Given the description of an element on the screen output the (x, y) to click on. 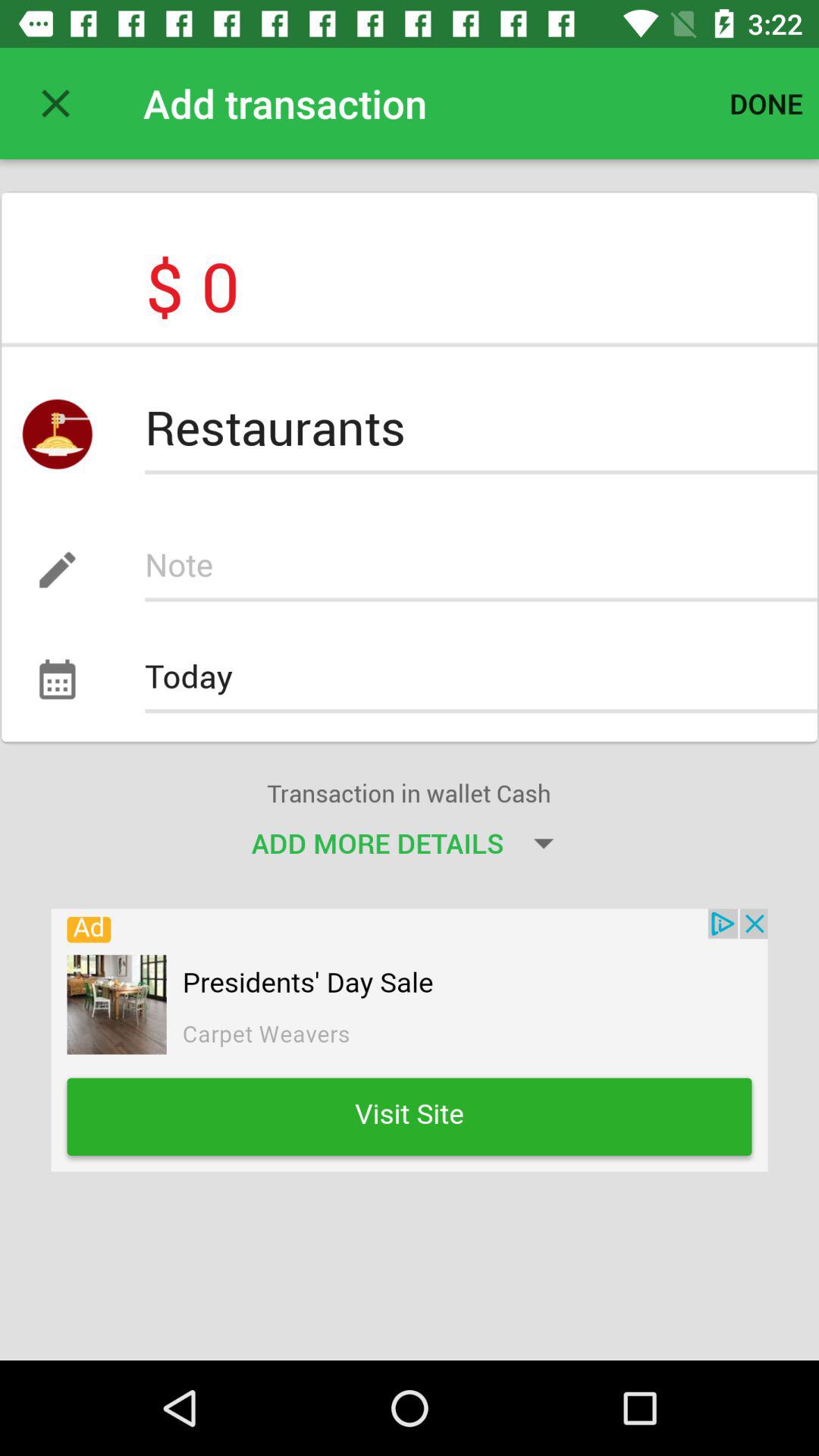
note field (481, 569)
